Given the description of an element on the screen output the (x, y) to click on. 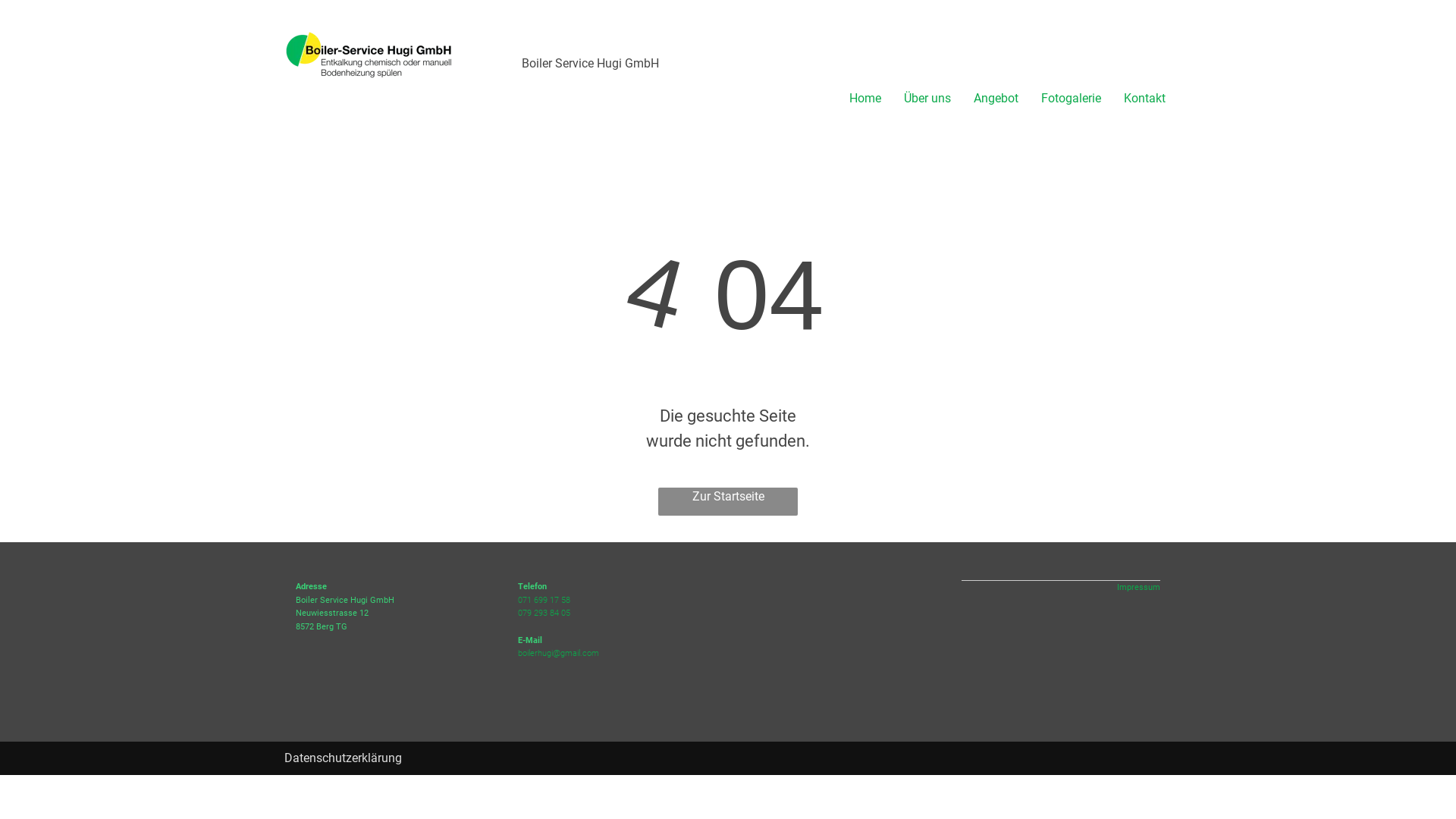
Home Element type: text (853, 98)
boilerhugi@gmail.com Element type: text (557, 653)
Angebot Element type: text (984, 98)
079 293 84 05 Element type: text (543, 613)
071 699 17 58 Element type: text (543, 600)
Zur Startseite Element type: text (727, 501)
Fotogalerie Element type: text (1059, 98)
Impressum Element type: text (1138, 587)
Kontakt Element type: text (1133, 98)
